Given the description of an element on the screen output the (x, y) to click on. 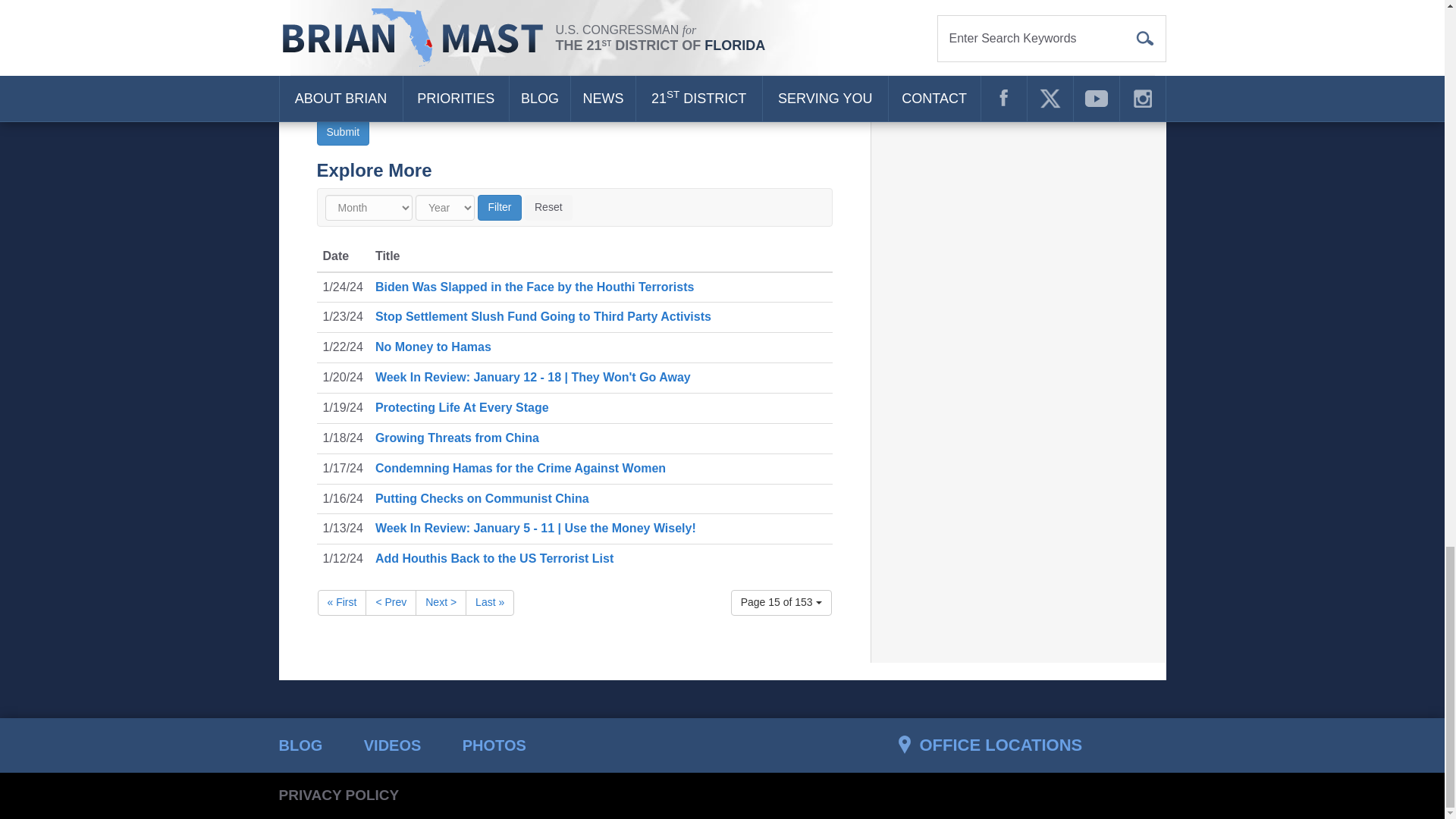
Submit (343, 132)
Reset (548, 207)
Filter (499, 207)
